Given the description of an element on the screen output the (x, y) to click on. 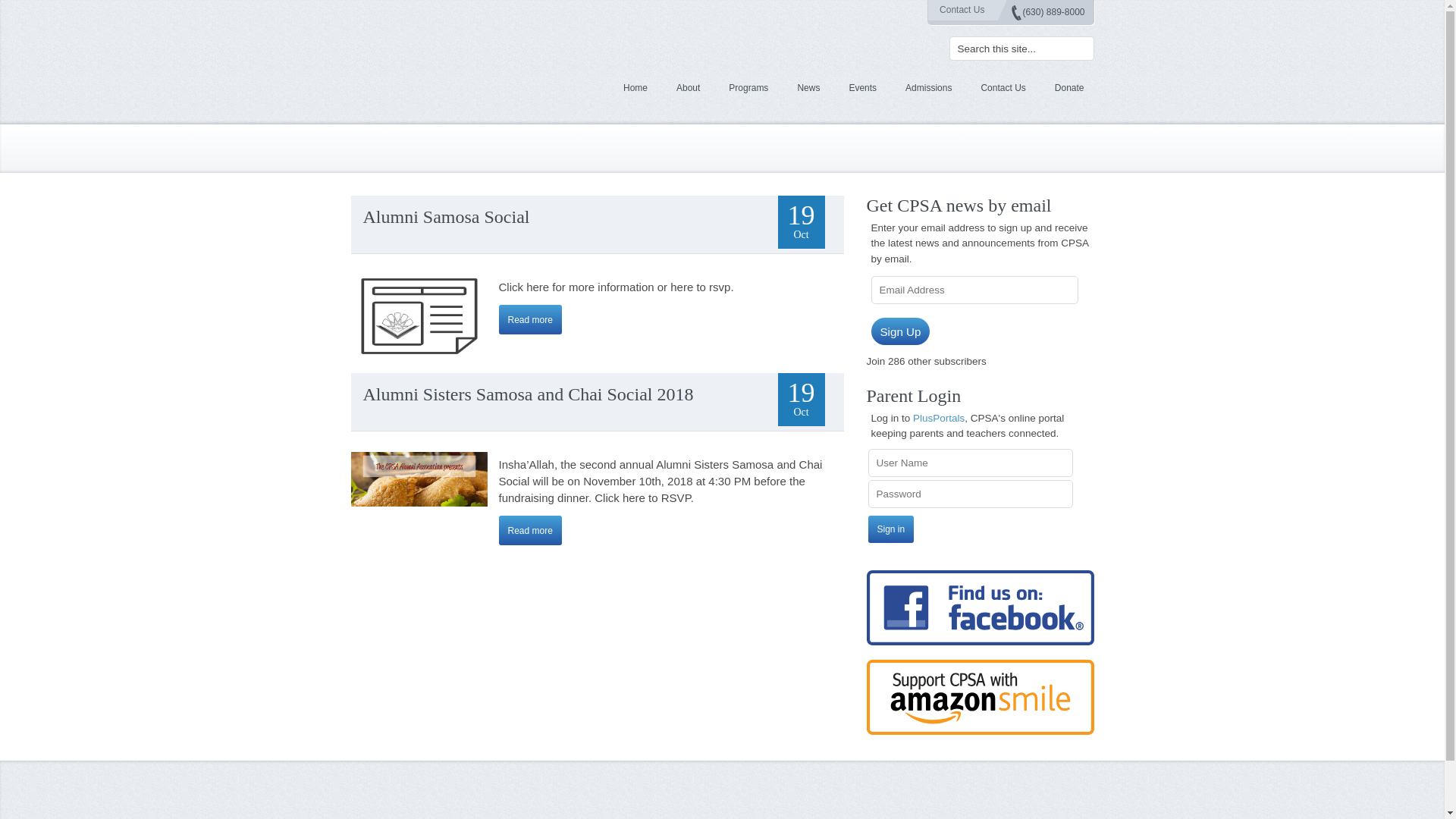
Admissions (927, 88)
Alumni Sisters Samosa and Chai Social 2018 (527, 394)
News (808, 88)
Search this site... (1021, 48)
About (688, 88)
Home (635, 88)
Contact Us (961, 9)
Alumni Samosa Social (445, 216)
Read more (530, 319)
Events (862, 88)
Search (21, 11)
Programs (748, 88)
Alumni Sisters Samosa and Chai Social 2018 (530, 530)
Sign in (890, 528)
Search this site... (1021, 48)
